Given the description of an element on the screen output the (x, y) to click on. 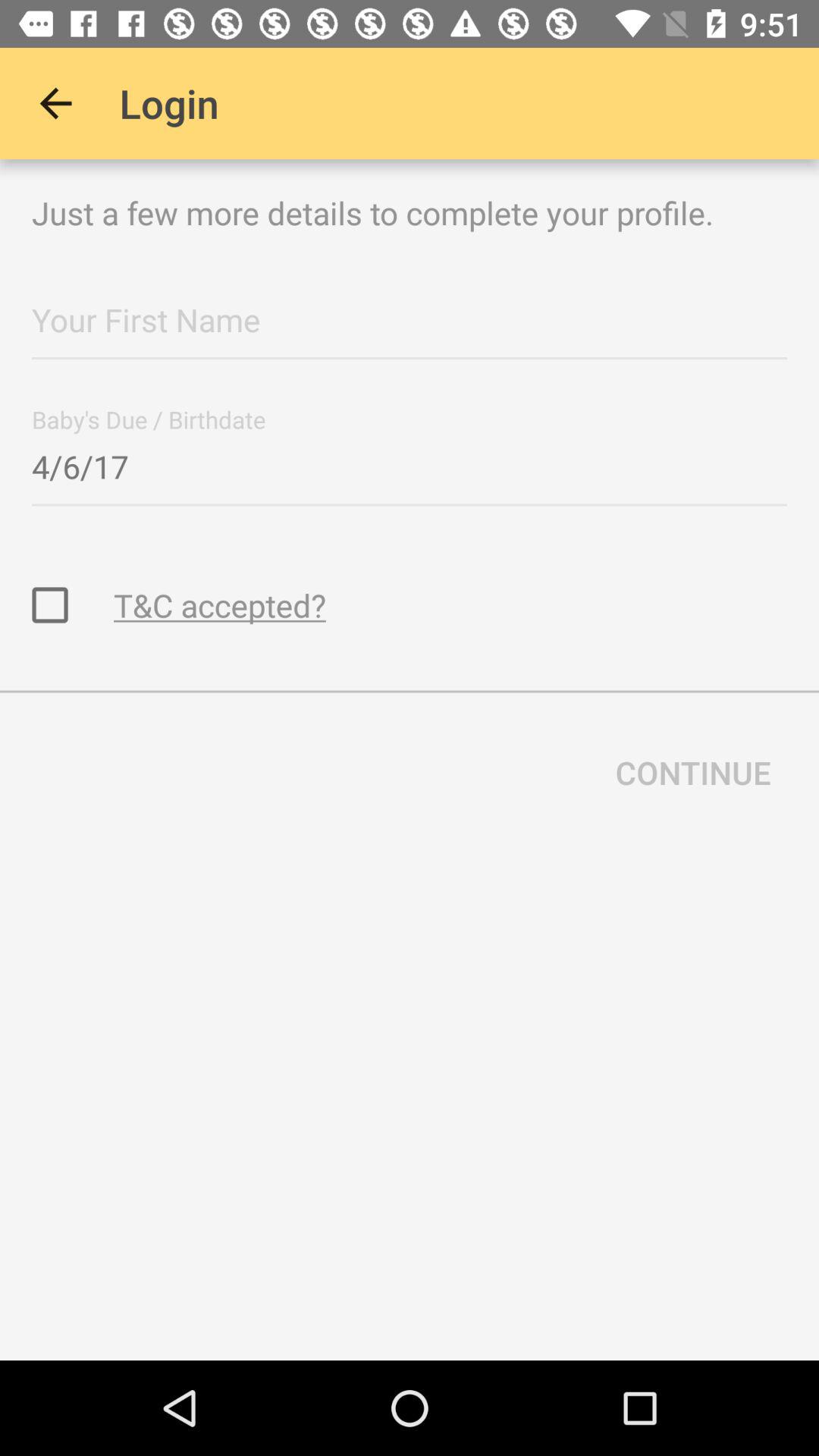
scroll to the 4/6/17 icon (409, 461)
